Given the description of an element on the screen output the (x, y) to click on. 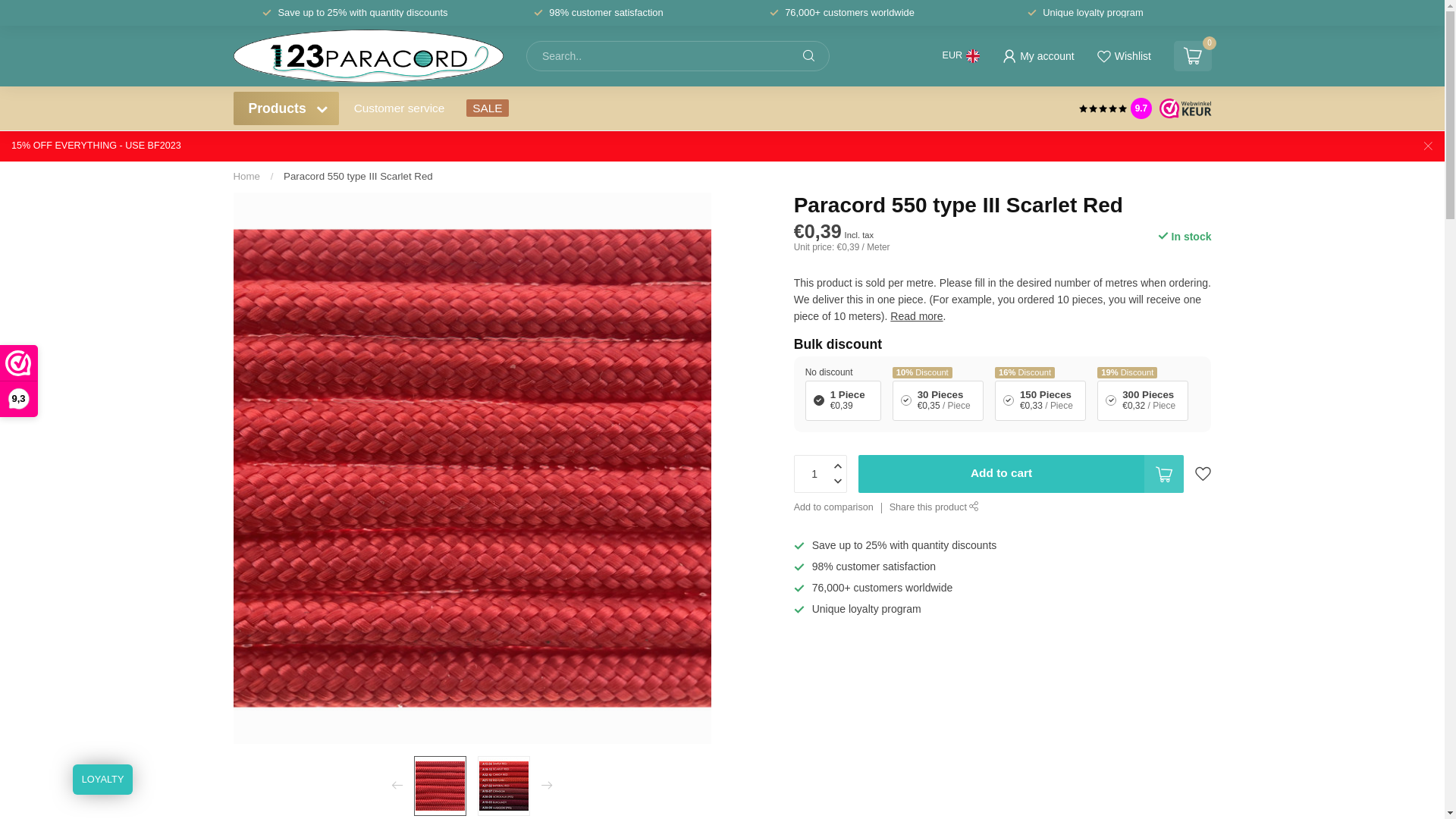
9.7 Element type: text (1140, 108)
Add to comparison Element type: text (833, 507)
Read more. Element type: text (917, 316)
Wishlist Element type: text (1123, 55)
Paracord 550 type III Scarlet Red Element type: text (358, 176)
0 Element type: text (1192, 55)
Home Element type: text (246, 176)
Customer service Element type: text (399, 108)
1 Element type: text (1060, 247)
LOYALTY Element type: text (102, 779)
SALE Element type: text (487, 107)
1 Element type: text (490, 556)
Share this product Element type: text (934, 507)
9,3 Element type: text (18, 380)
Add to cart Element type: text (1021, 473)
